Given the description of an element on the screen output the (x, y) to click on. 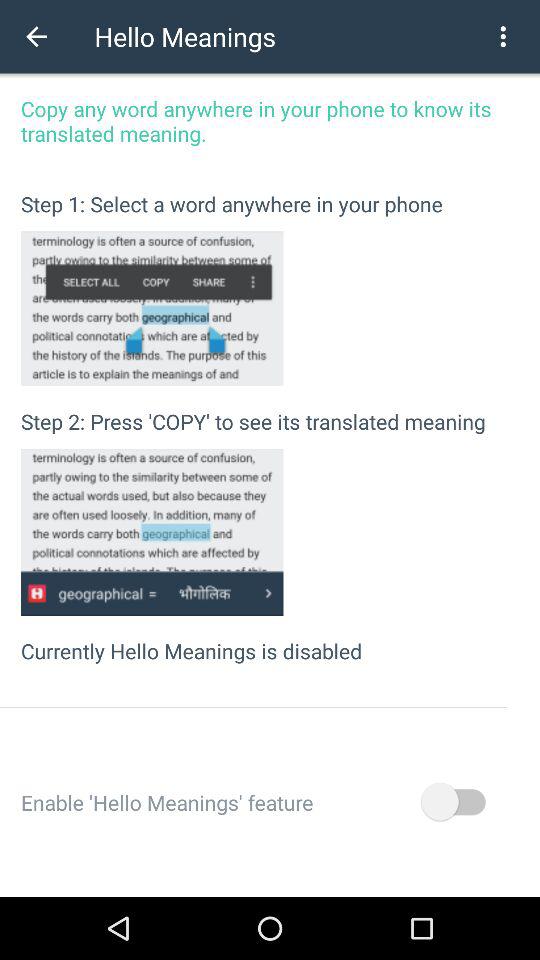
launch the item next to the enable hello meanings item (452, 802)
